Given the description of an element on the screen output the (x, y) to click on. 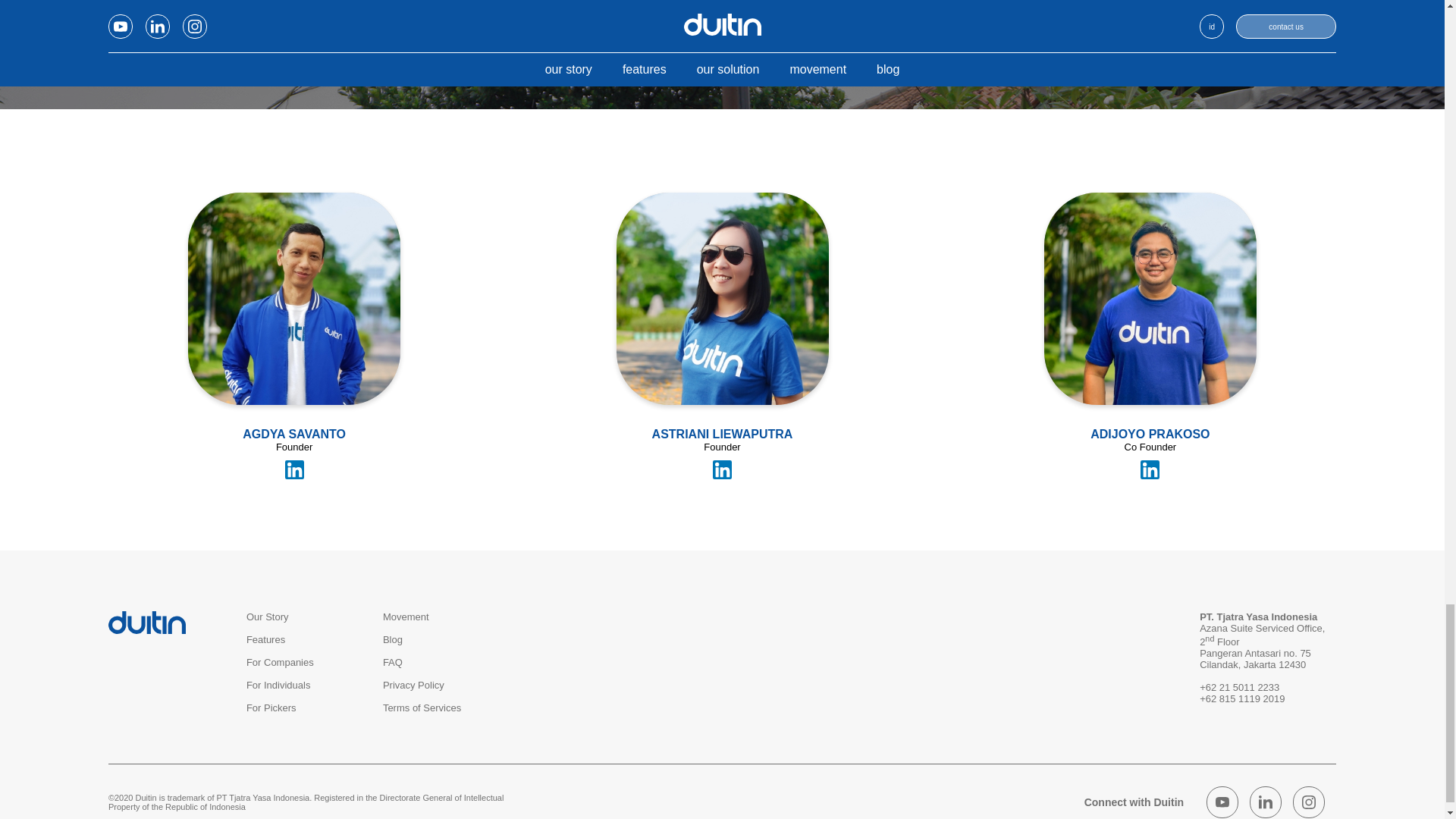
Blog (392, 639)
For Companies (280, 662)
Privacy Policy (413, 685)
For Individuals (278, 685)
Our Story (267, 616)
Terms of Services (421, 707)
FAQ (392, 662)
For Pickers (271, 707)
Movement (405, 616)
Features (265, 639)
